Given the description of an element on the screen output the (x, y) to click on. 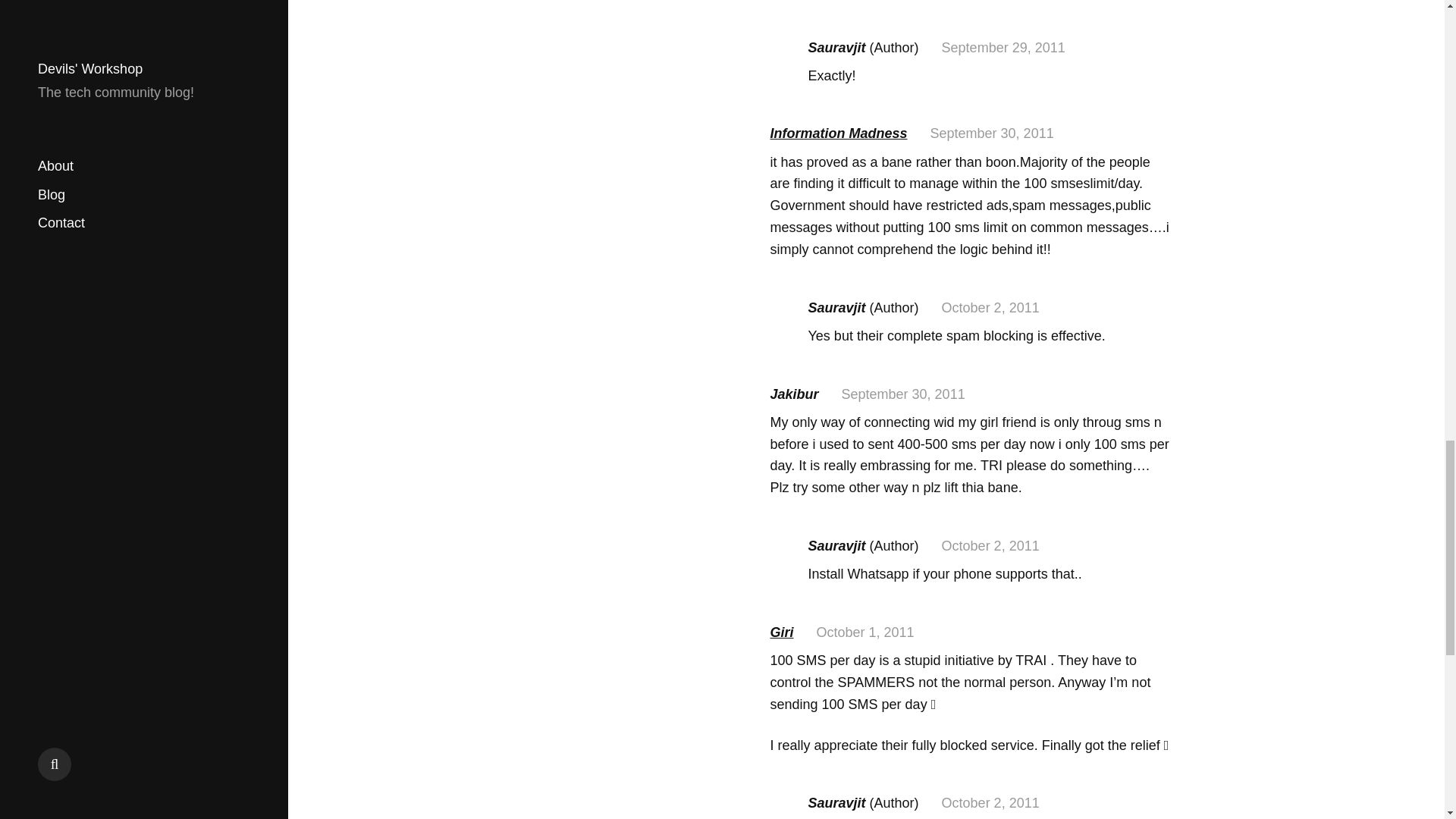
September 29, 2011 (1003, 46)
September 30, 2011 at 2:53 pm (992, 133)
October 2, 2011 (990, 307)
September 29, 2011 at 2:28 pm (1003, 46)
September 30, 2011 (903, 394)
September 30, 2011 at 11:27 pm (903, 394)
October 2, 2011 at 3:22 pm (990, 802)
October 1, 2011 (865, 631)
October 2, 2011 (990, 802)
October 2, 2011 at 3:22 pm (990, 545)
